Given the description of an element on the screen output the (x, y) to click on. 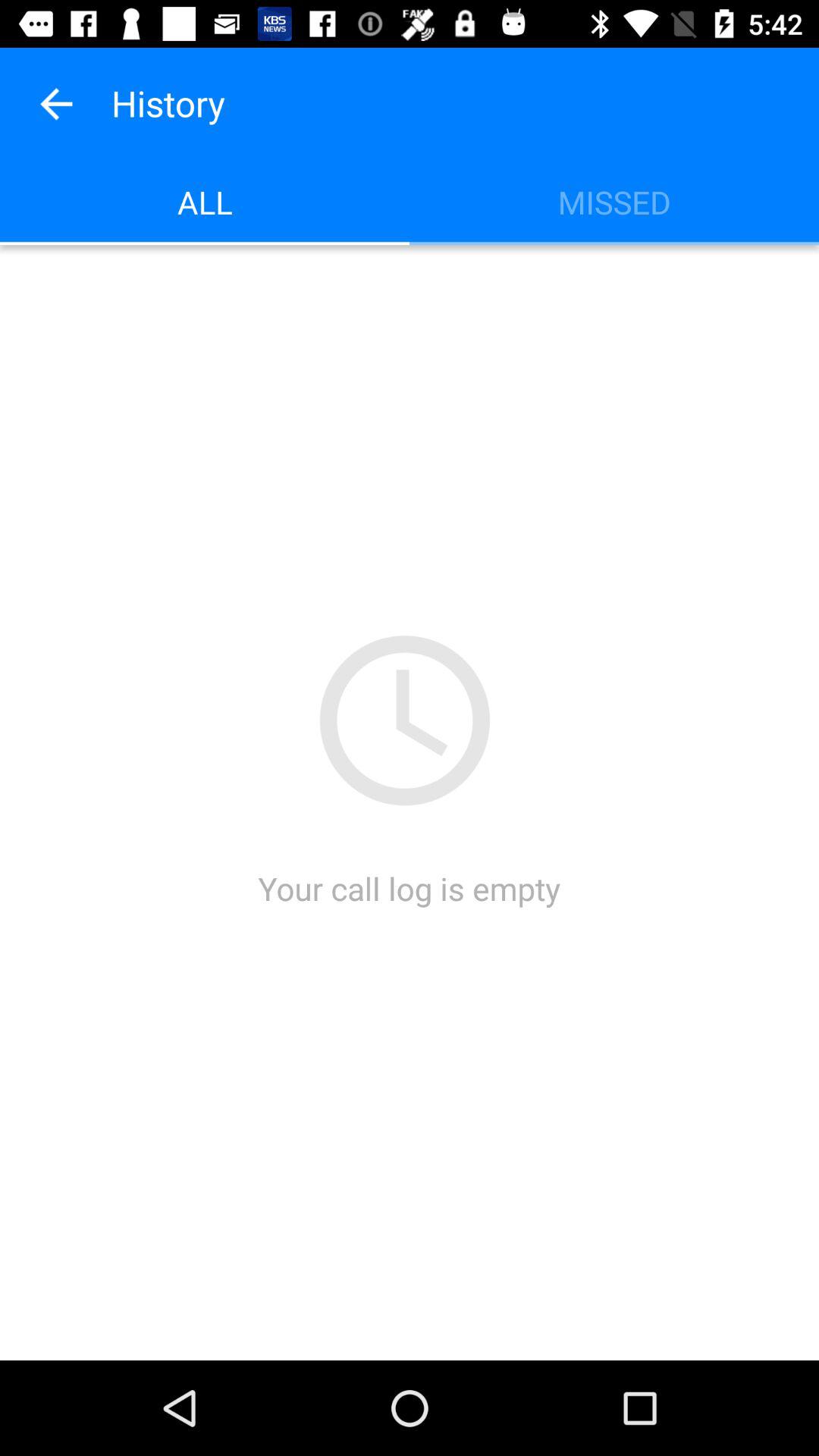
open icon above the all (55, 103)
